Given the description of an element on the screen output the (x, y) to click on. 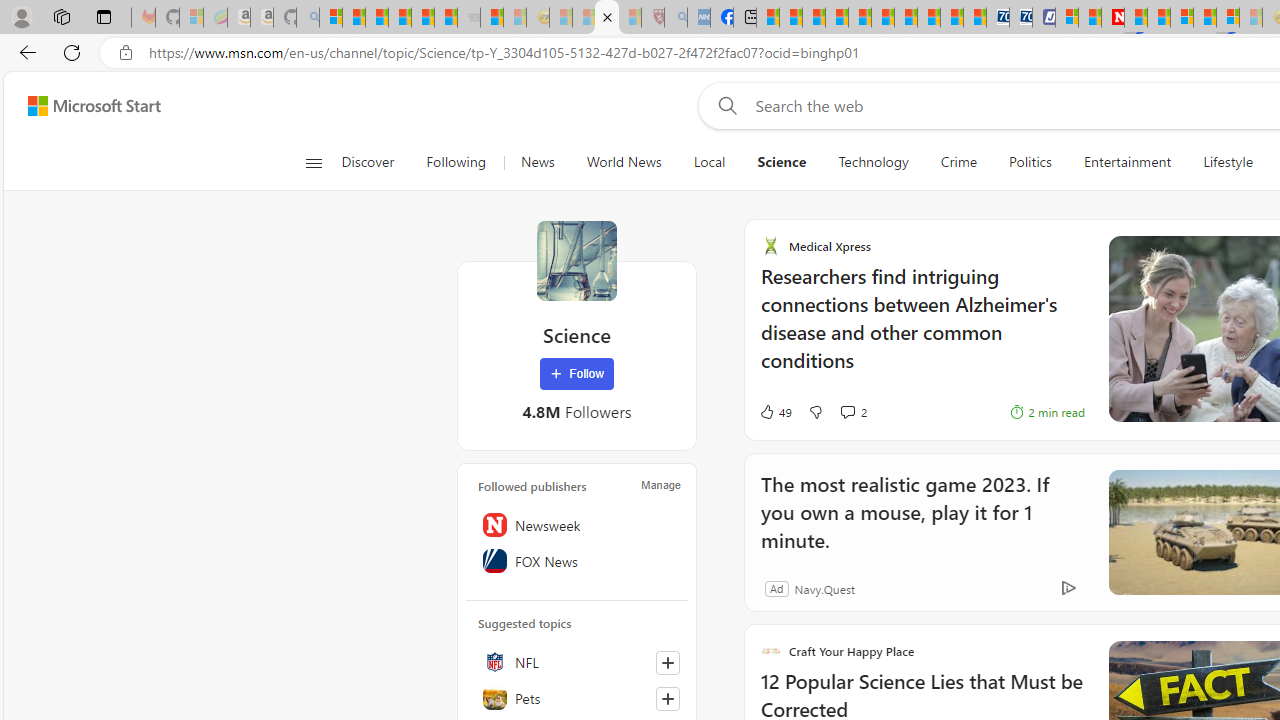
Robert H. Shmerling, MD - Harvard Health - Sleeping (653, 17)
Trusted Community Engagement and Contributions | Guidelines (1135, 17)
